Given the description of an element on the screen output the (x, y) to click on. 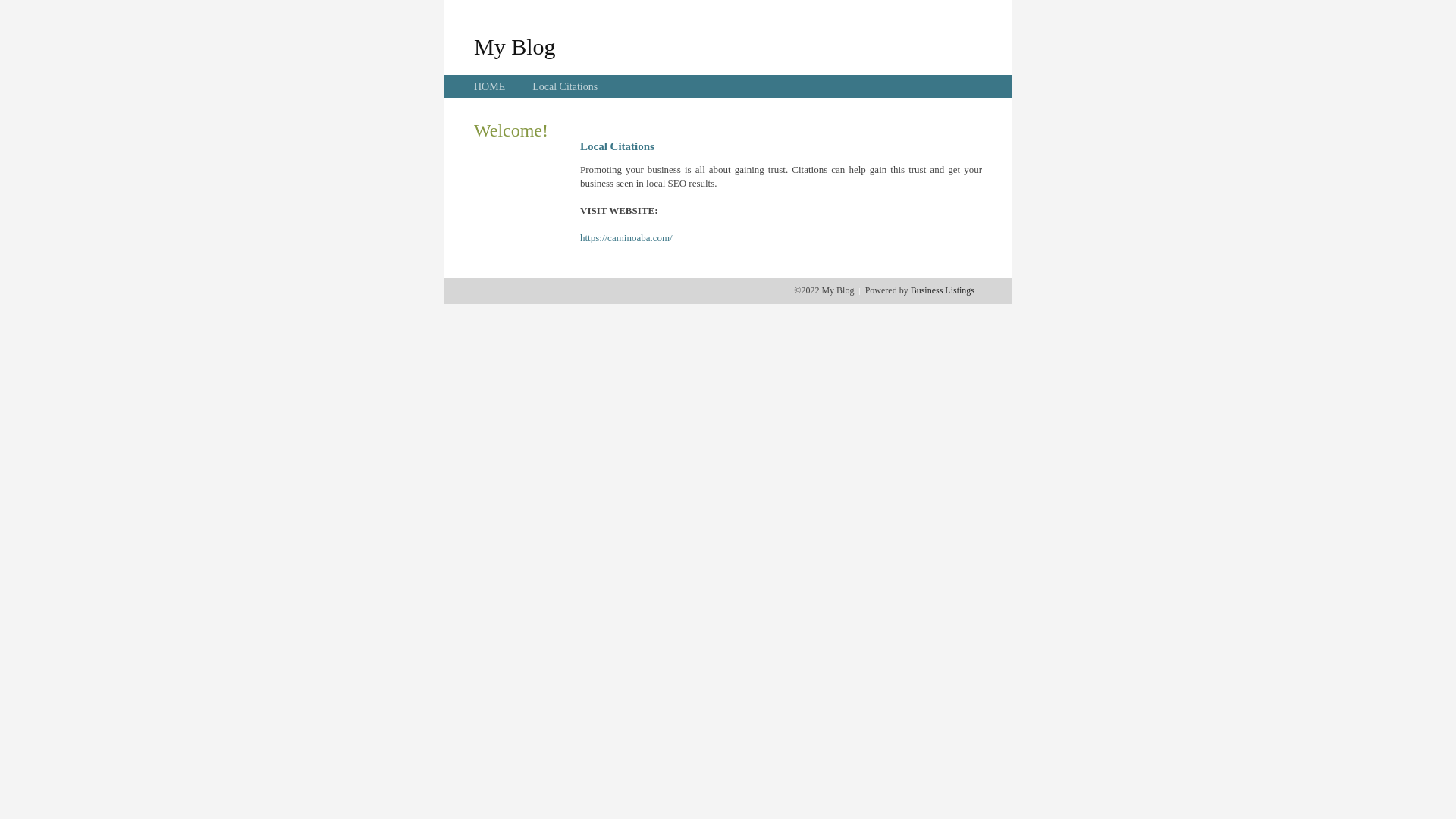
Business Listings Element type: text (942, 290)
Local Citations Element type: text (564, 86)
My Blog Element type: text (514, 46)
HOME Element type: text (489, 86)
https://caminoaba.com/ Element type: text (626, 237)
